Given the description of an element on the screen output the (x, y) to click on. 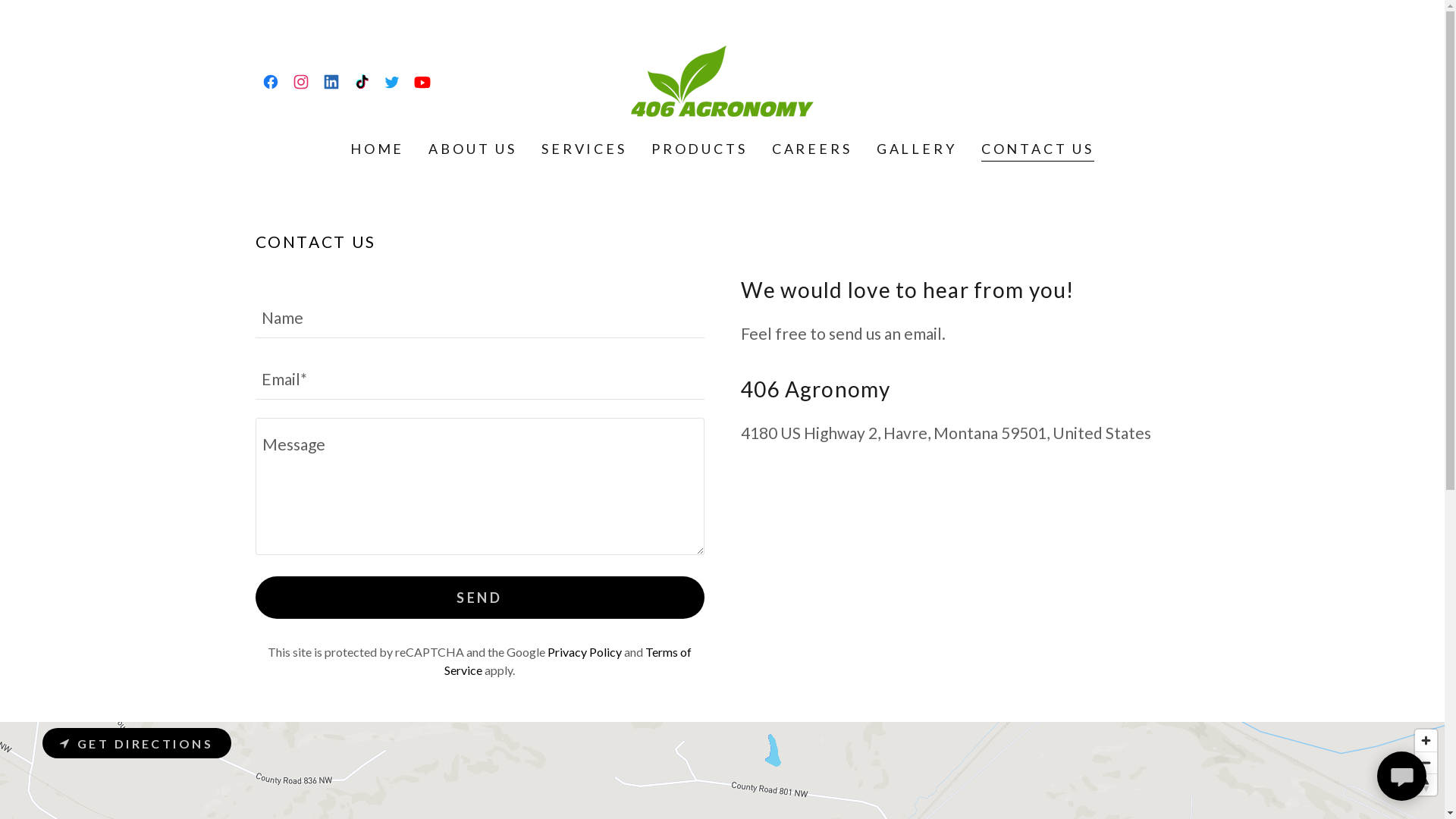
Privacy Policy Element type: text (584, 651)
CAREERS Element type: text (811, 148)
GET DIRECTIONS Element type: text (136, 743)
SEND Element type: text (478, 597)
PRODUCTS Element type: text (699, 148)
HOME Element type: text (376, 148)
ABOUT US Element type: text (472, 148)
GALLERY Element type: text (916, 148)
Terms of Service Element type: text (567, 660)
SERVICES Element type: text (583, 148)
Zoom out Element type: hover (1426, 762)
Zoom in Element type: hover (1426, 740)
CONTACT US Element type: text (1038, 150)
Reset bearing to north Element type: hover (1426, 784)
